Given the description of an element on the screen output the (x, y) to click on. 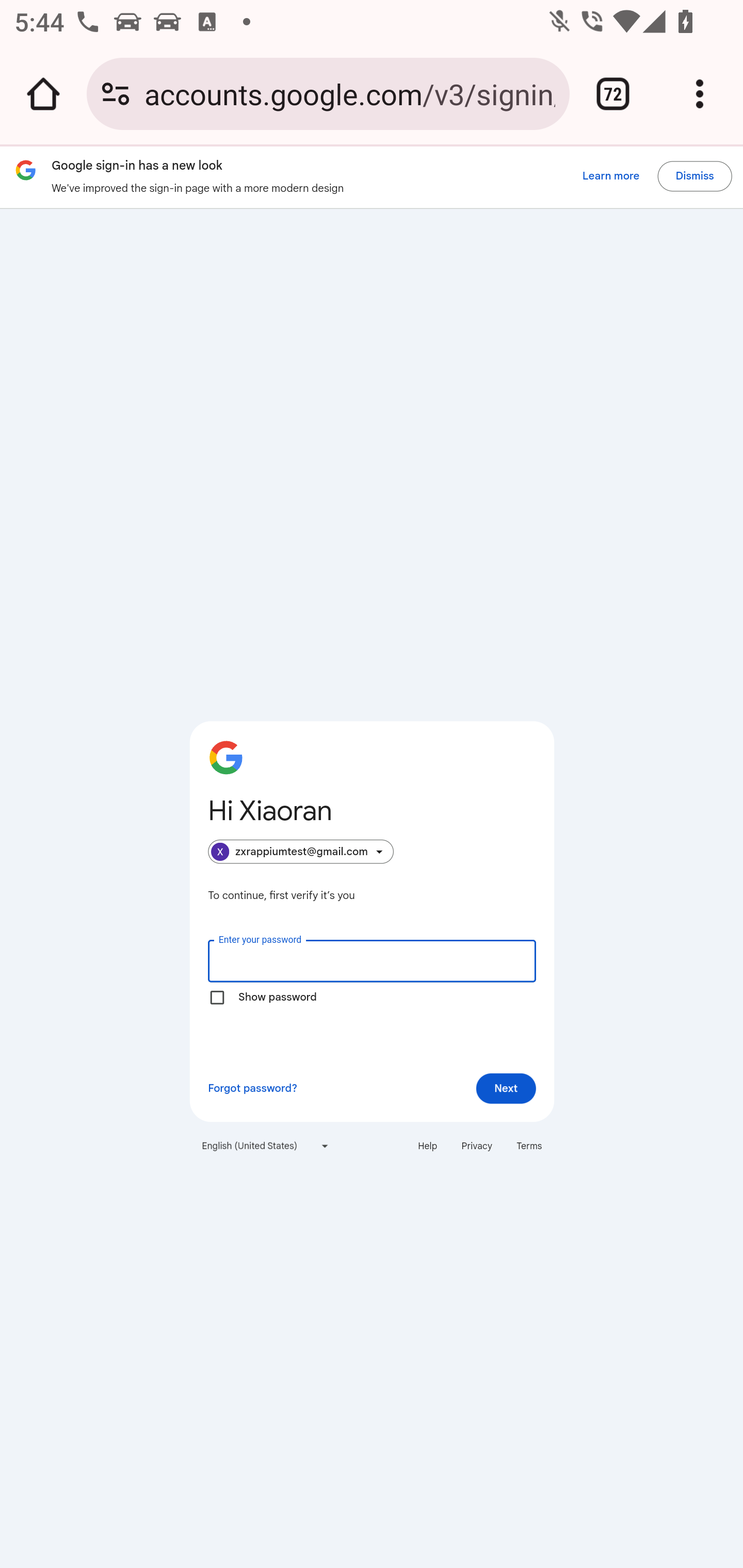
Open the home page (43, 93)
Connection is secure (115, 93)
Switch or close tabs (612, 93)
Customize and control Google Chrome (699, 93)
Learn more (610, 176)
Dismiss (694, 176)
Show password (216, 997)
Forgot password? (251, 1088)
Next (505, 1088)
Help (426, 1145)
Privacy (476, 1145)
Terms (528, 1145)
